Given the description of an element on the screen output the (x, y) to click on. 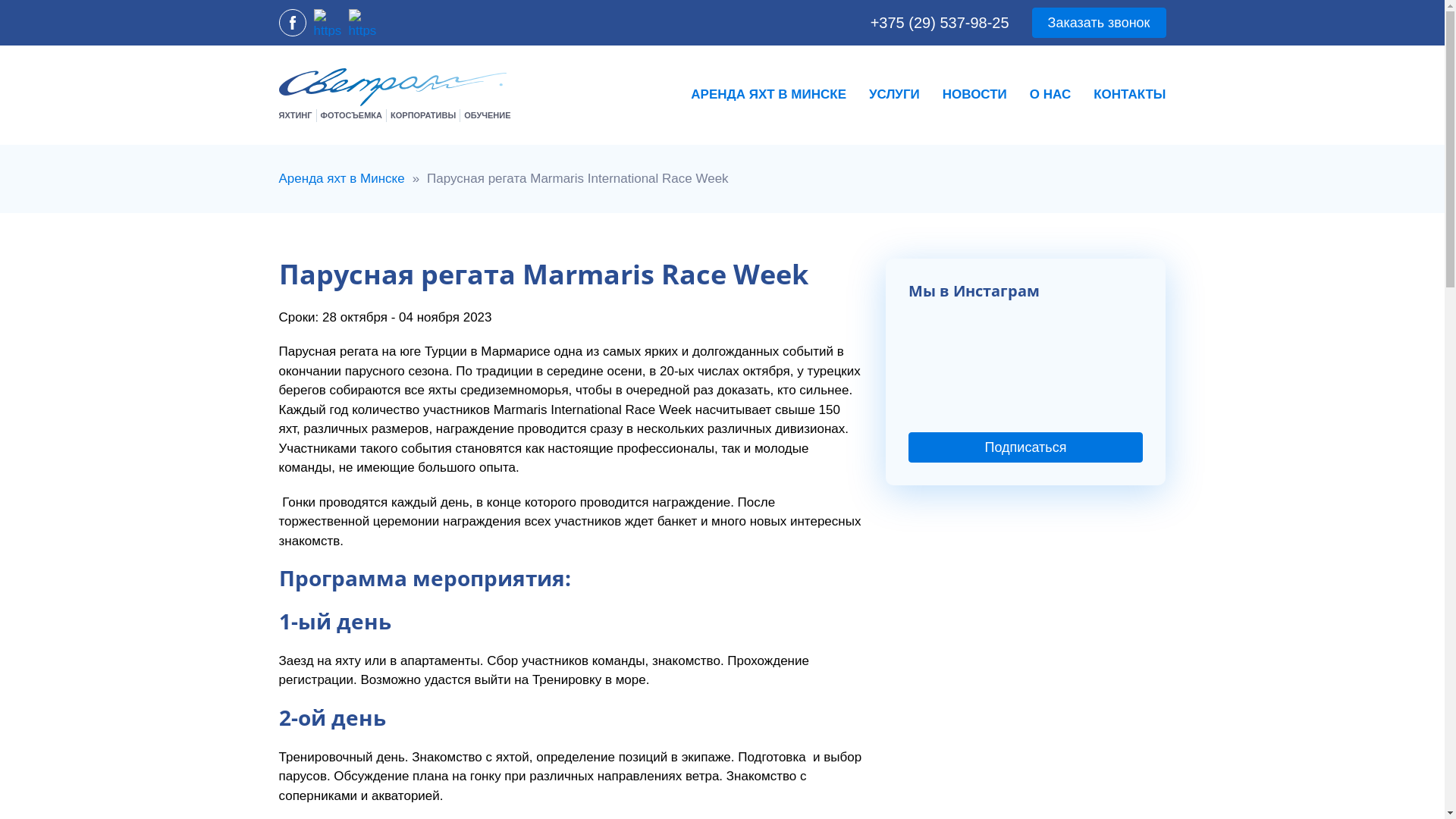
https://www.facebook.com/clubsvetrom Element type: hover (292, 22)
https://vk.com/svetromby Element type: hover (362, 22)
+375 (29) 537-98-25 Element type: text (939, 22)
https://www.instagram.com/svetromby Element type: hover (327, 22)
